Given the description of an element on the screen output the (x, y) to click on. 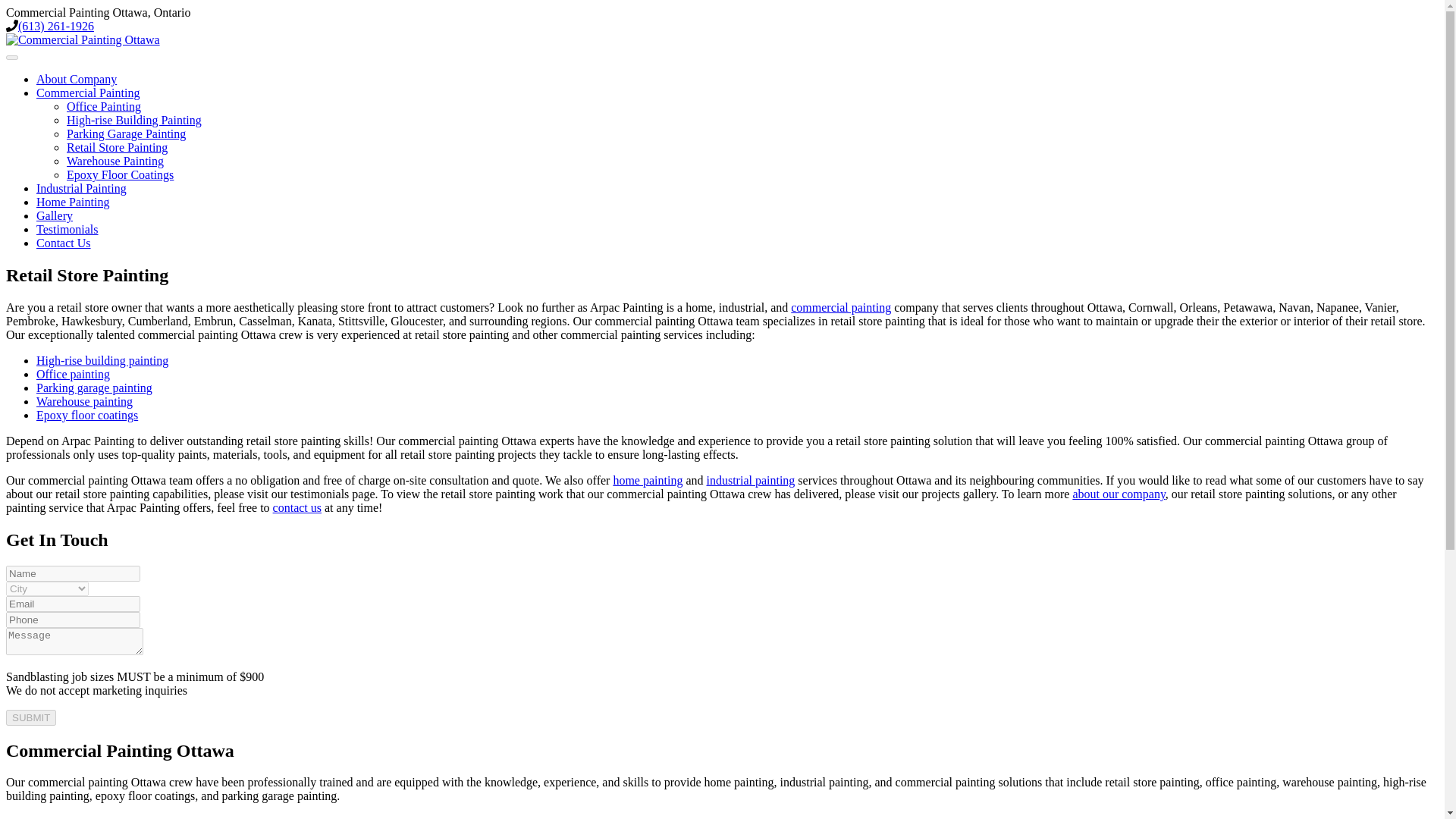
Epoxy floor coatings (87, 414)
Testimonials (67, 228)
Industrial Painting (81, 187)
About Company (76, 78)
commercial painting (840, 307)
industrial painting (750, 480)
Warehouse painting (84, 400)
High-rise building painting (102, 359)
SUBMIT (30, 717)
SUBMIT (30, 717)
Gallery (54, 215)
High-rise Building Painting (134, 119)
Toggle navigation (11, 57)
about our company (1117, 493)
contact us (297, 507)
